Given the description of an element on the screen output the (x, y) to click on. 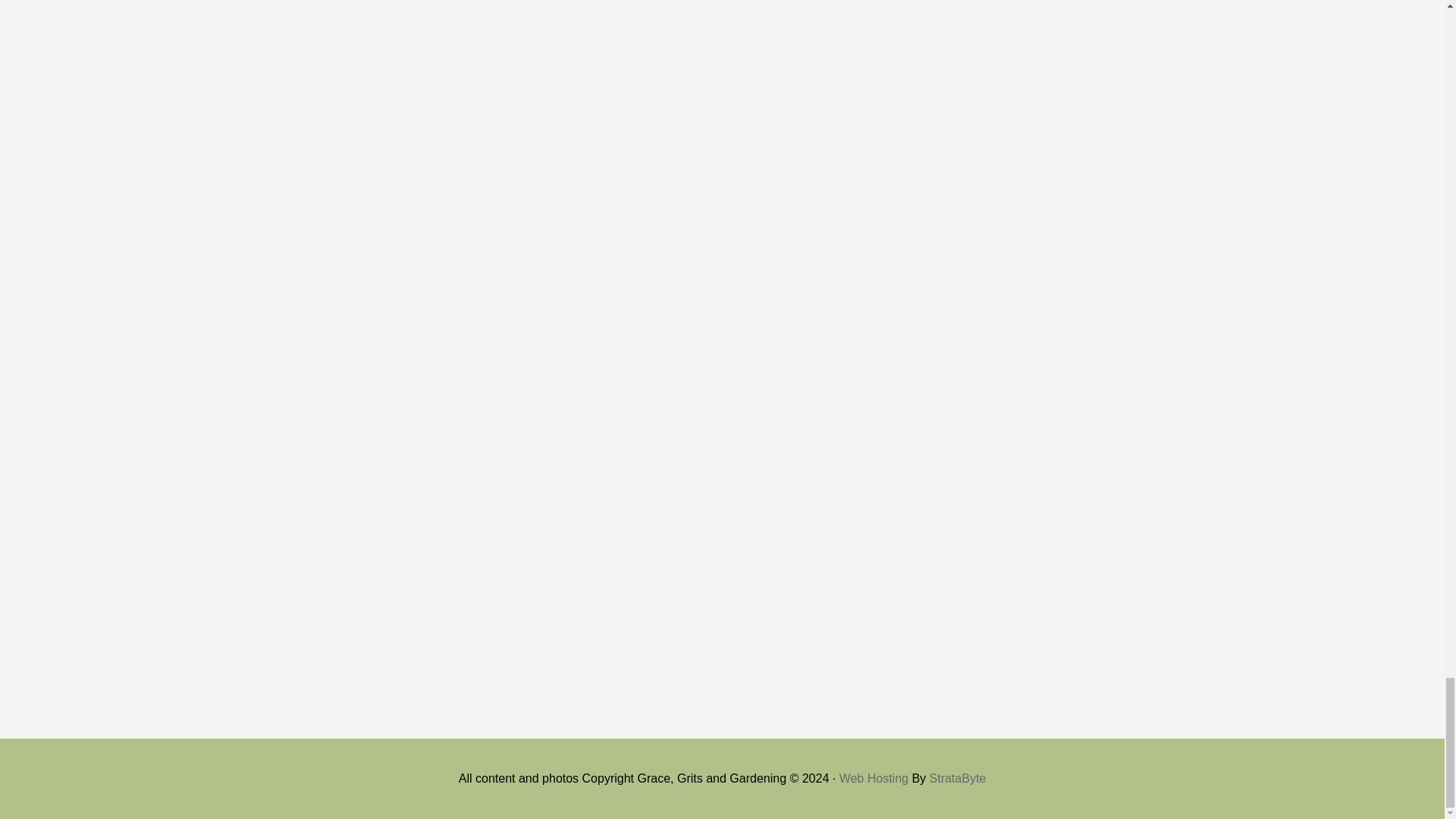
Web Hosting (874, 778)
StrataByte (958, 778)
